Given the description of an element on the screen output the (x, y) to click on. 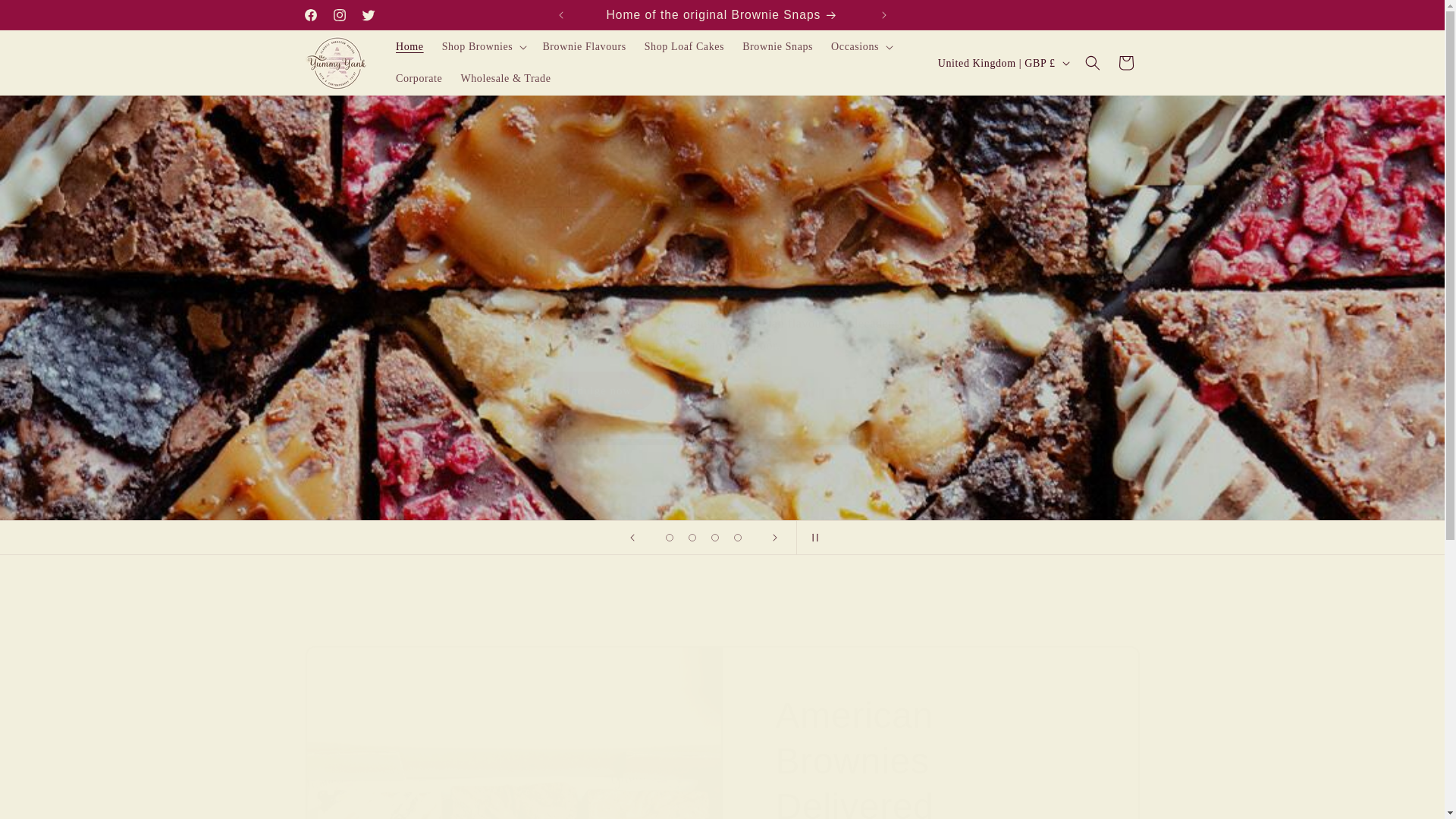
Brownie Flavours (583, 47)
Twitter (367, 14)
Instagram (338, 14)
Facebook (309, 14)
Shop Loaf Cakes (683, 47)
Home (409, 47)
Skip to content (46, 18)
Build your own brownie box (1021, 14)
Home of the original Brownie Snaps (722, 14)
